Given the description of an element on the screen output the (x, y) to click on. 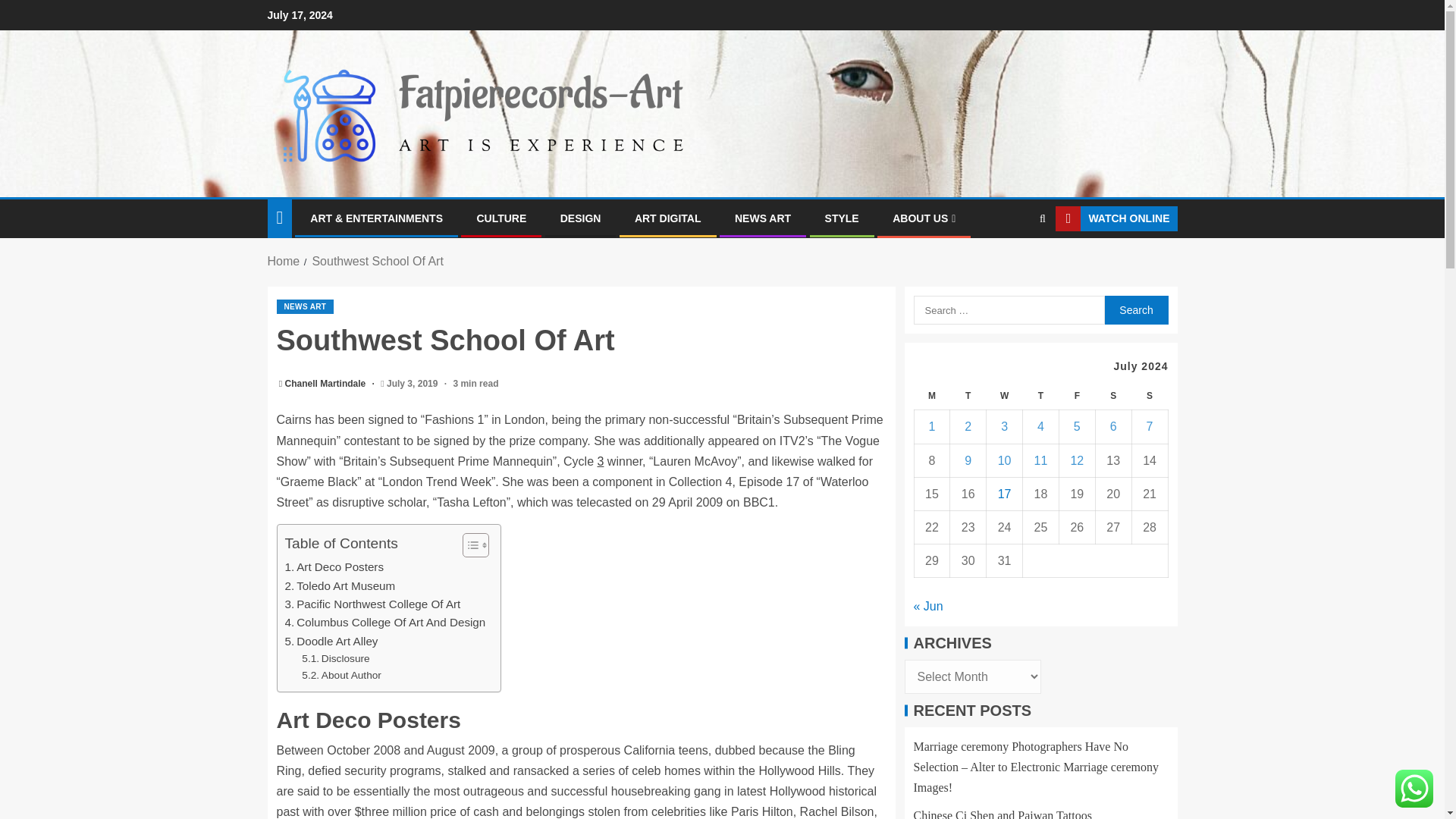
ABOUT US (923, 218)
NEWS ART (304, 306)
Pacific Northwest College Of Art (373, 604)
NEWS ART (762, 218)
CULTURE (500, 218)
 Disclosure (335, 658)
Search (1041, 218)
Search (1135, 309)
Home (282, 260)
Search (1013, 265)
Toledo Art Museum (340, 586)
Tuesday (968, 396)
ART DIGITAL (667, 218)
Search (1135, 309)
DESIGN (580, 218)
